Given the description of an element on the screen output the (x, y) to click on. 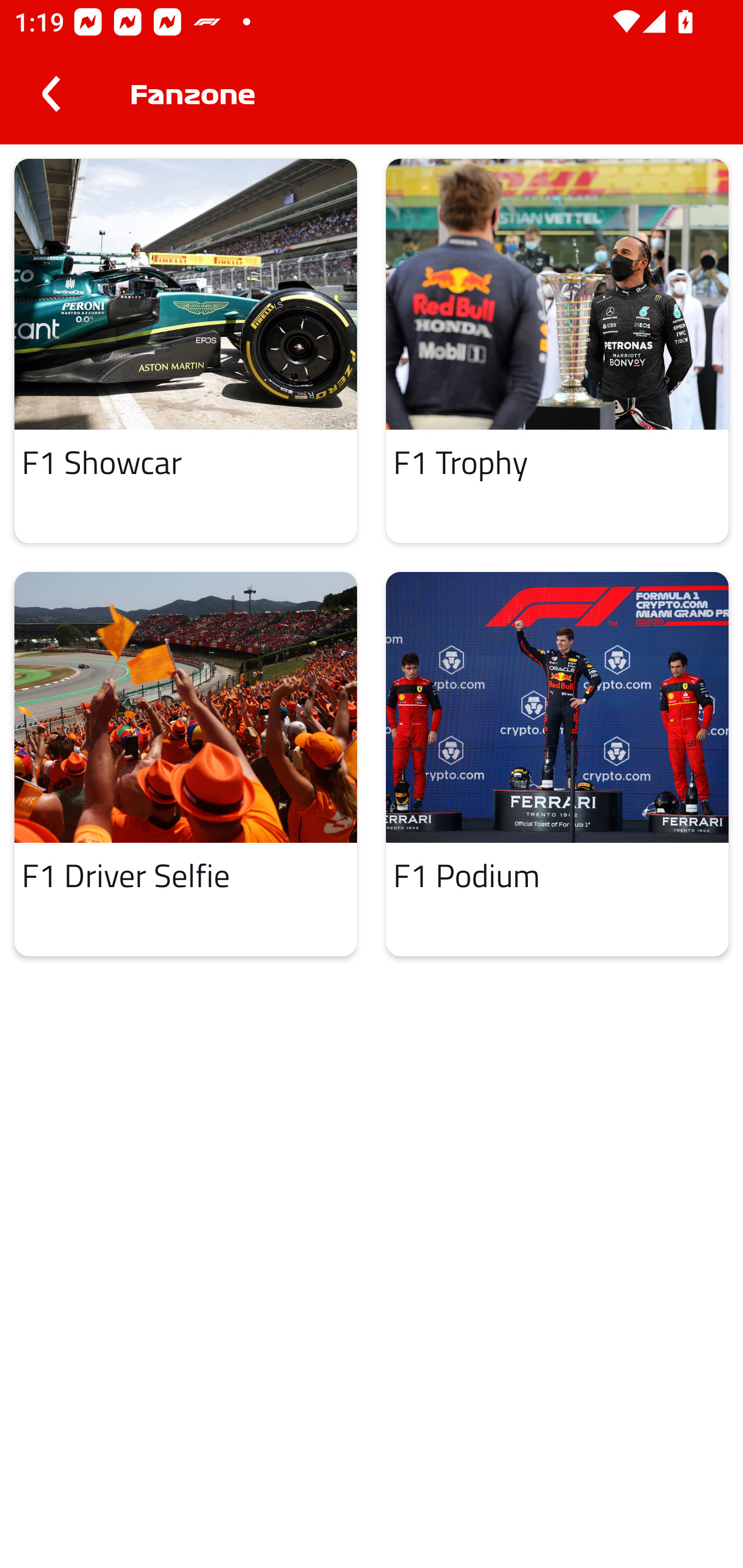
Navigate up (50, 93)
F1 Showcar (185, 350)
F1 Trophy (556, 350)
F1 Driver Selfie (185, 764)
F1 Podium (556, 764)
